Given the description of an element on the screen output the (x, y) to click on. 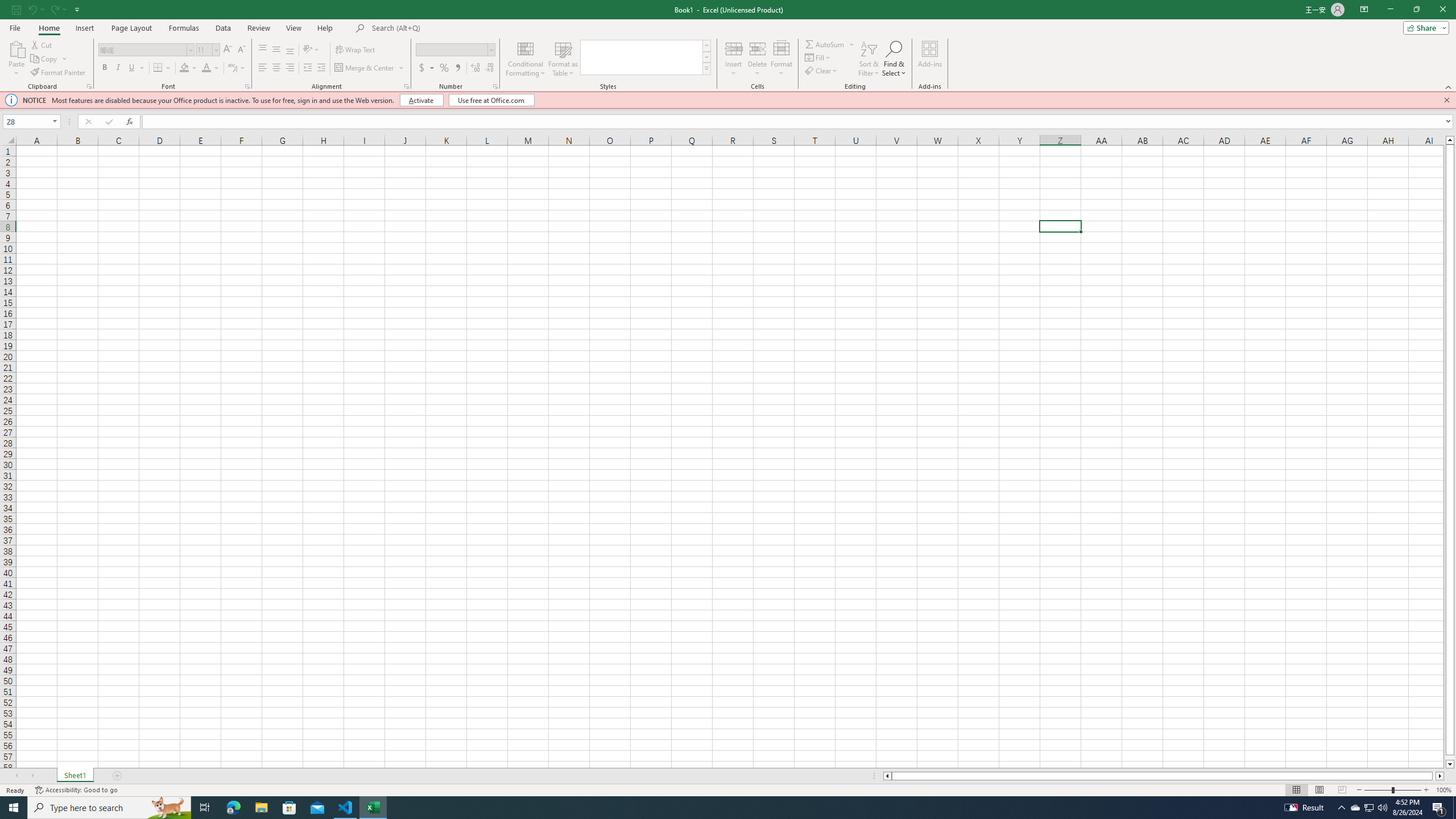
Format (781, 58)
Sum (825, 44)
Format as Table (563, 58)
Percent Style (443, 67)
Font Color (210, 67)
Conditional Formatting (525, 58)
Delete (757, 58)
Cell Styles (705, 68)
Activate (422, 100)
Increase Font Size (227, 49)
Align Left (262, 67)
Wrap Text (355, 49)
